Given the description of an element on the screen output the (x, y) to click on. 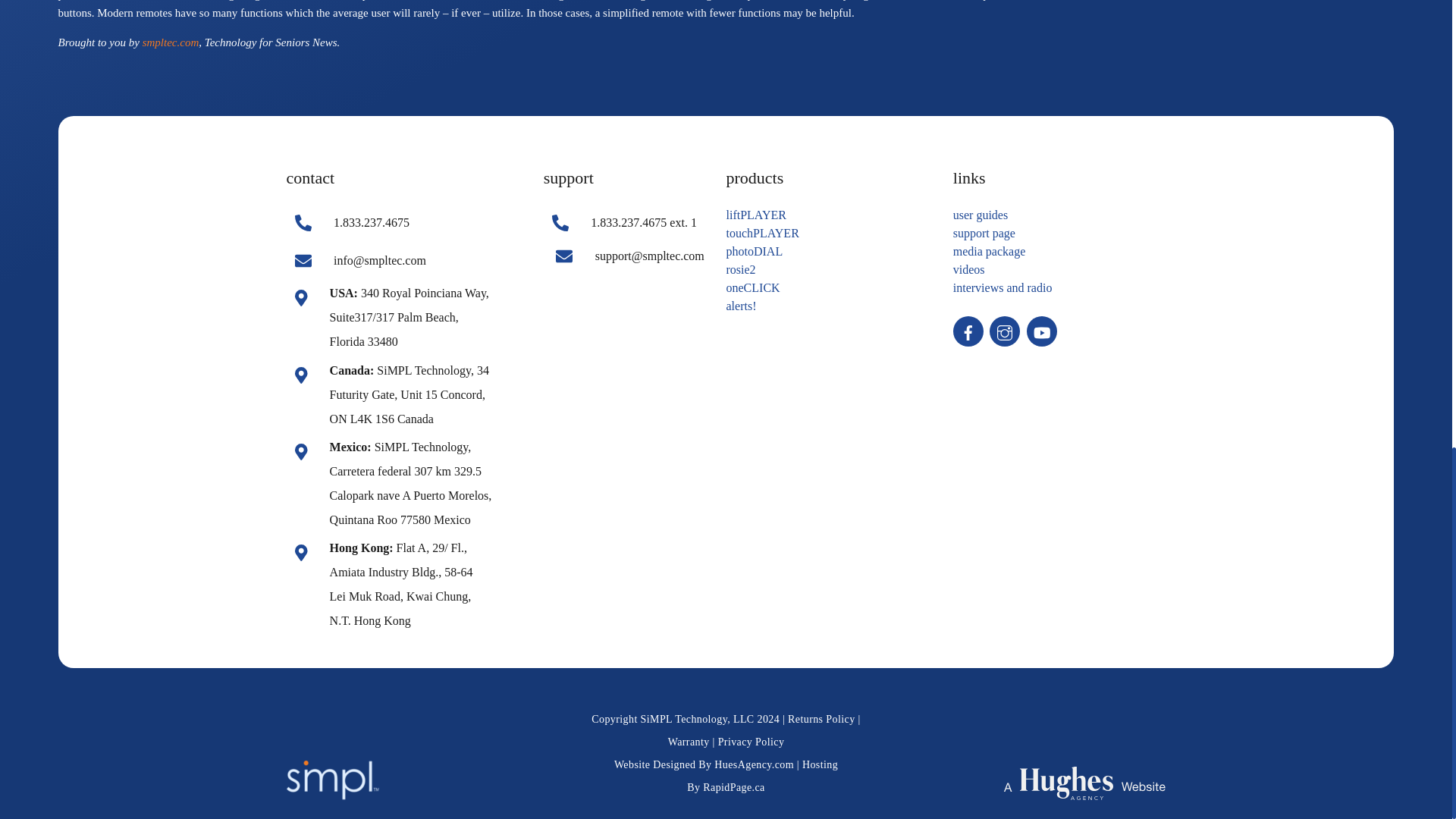
smpltec.com (170, 42)
